Given the description of an element on the screen output the (x, y) to click on. 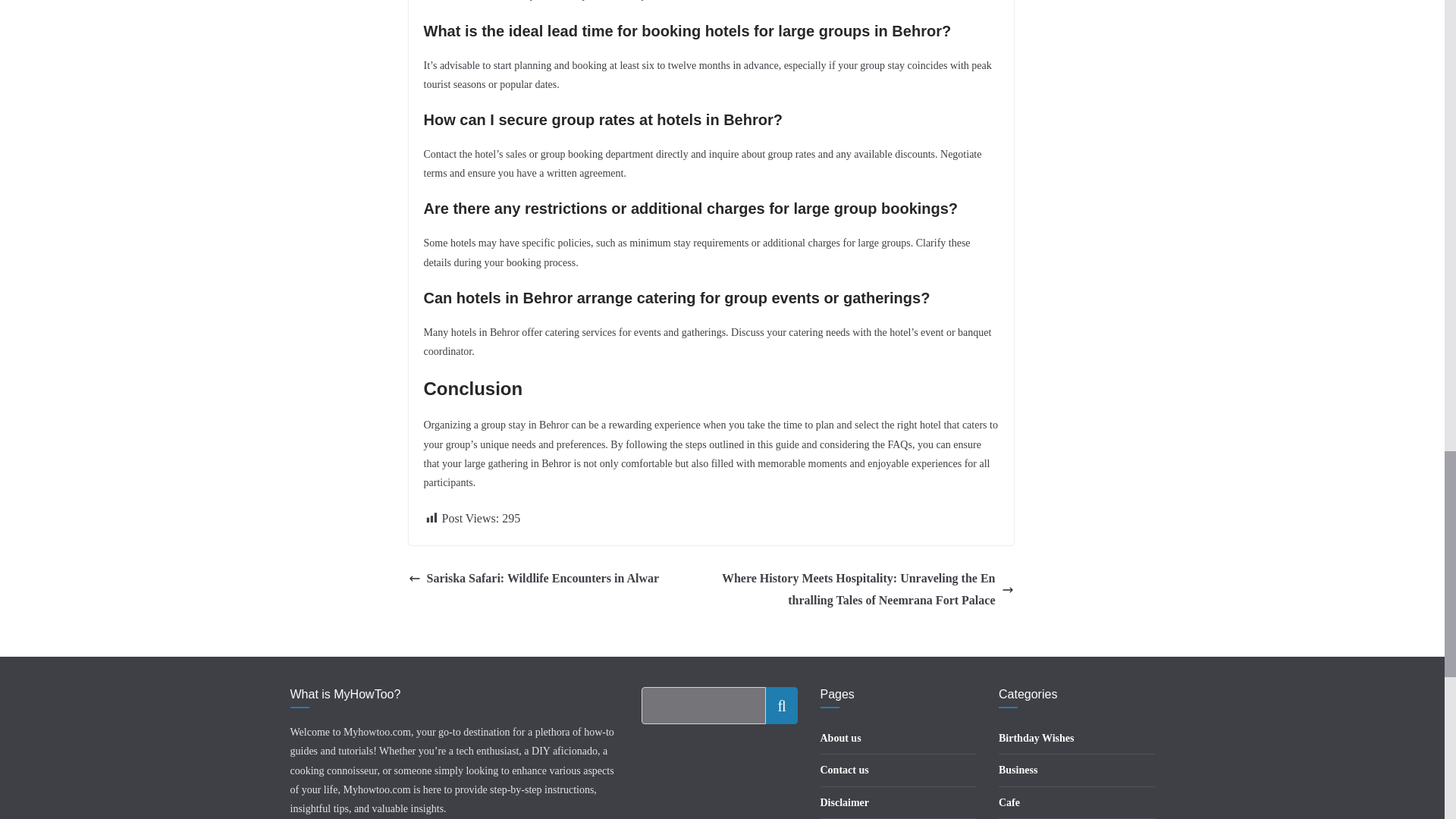
Disclaimer (845, 802)
Contact us (845, 769)
Cafe (1009, 802)
Sariska Safari: Wildlife Encounters in Alwar (533, 578)
Business (1017, 769)
About us (841, 737)
Birthday Wishes (1036, 737)
